Given the description of an element on the screen output the (x, y) to click on. 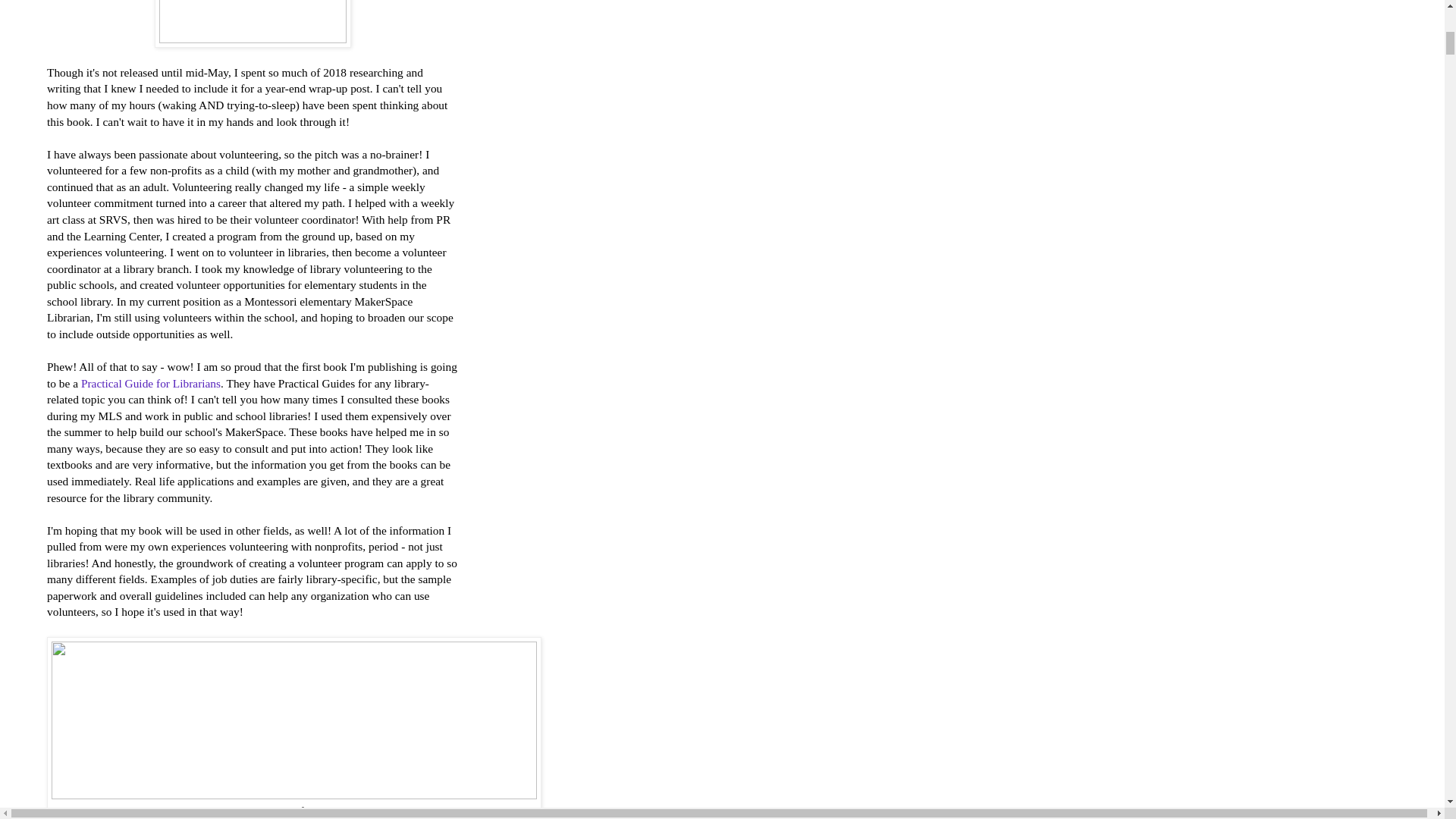
Practical Guide for Librarians (151, 382)
